Given the description of an element on the screen output the (x, y) to click on. 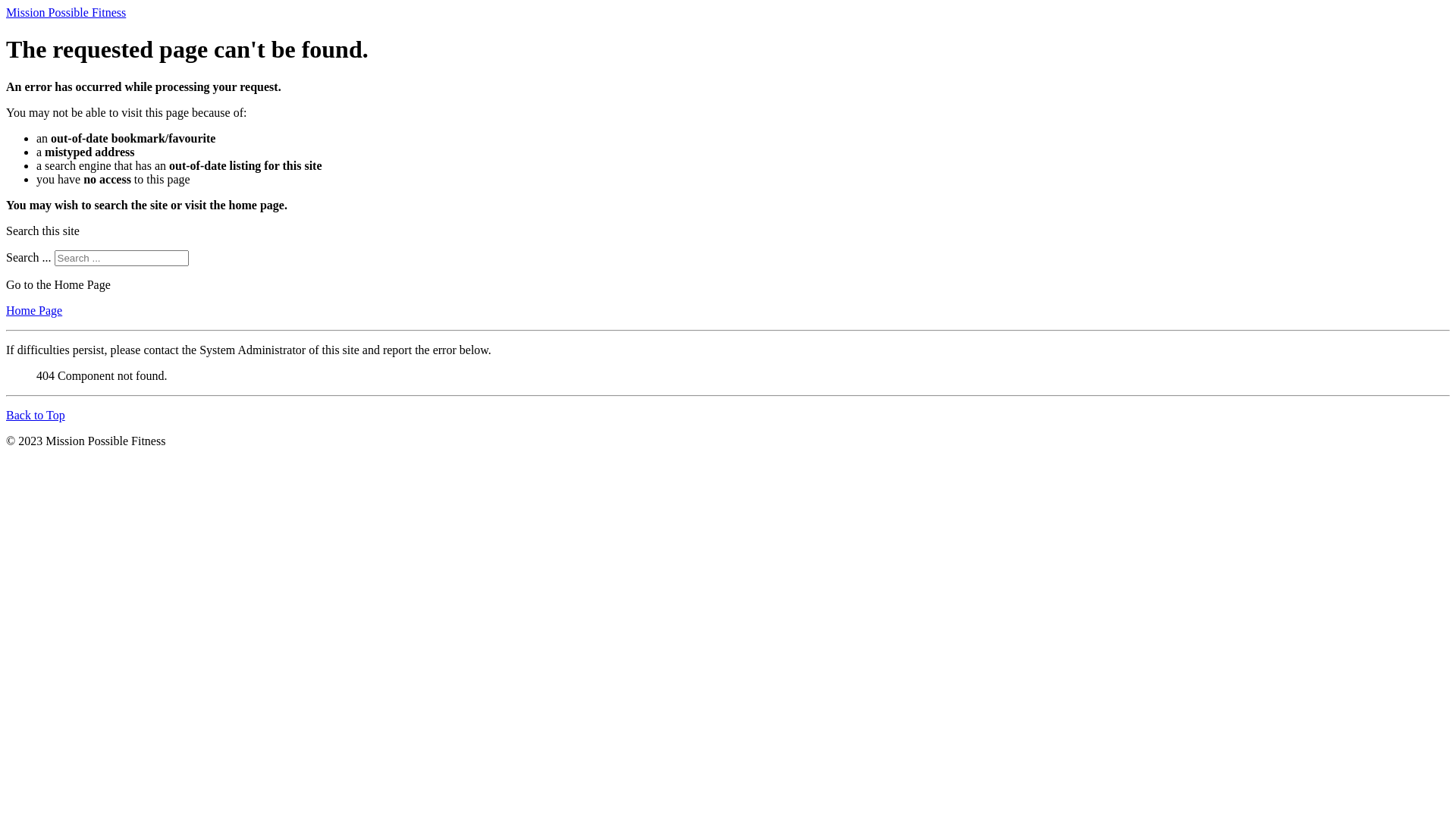
Mission Possible Fitness Element type: text (65, 12)
Home Page Element type: text (34, 310)
Back to Top Element type: text (35, 414)
